Given the description of an element on the screen output the (x, y) to click on. 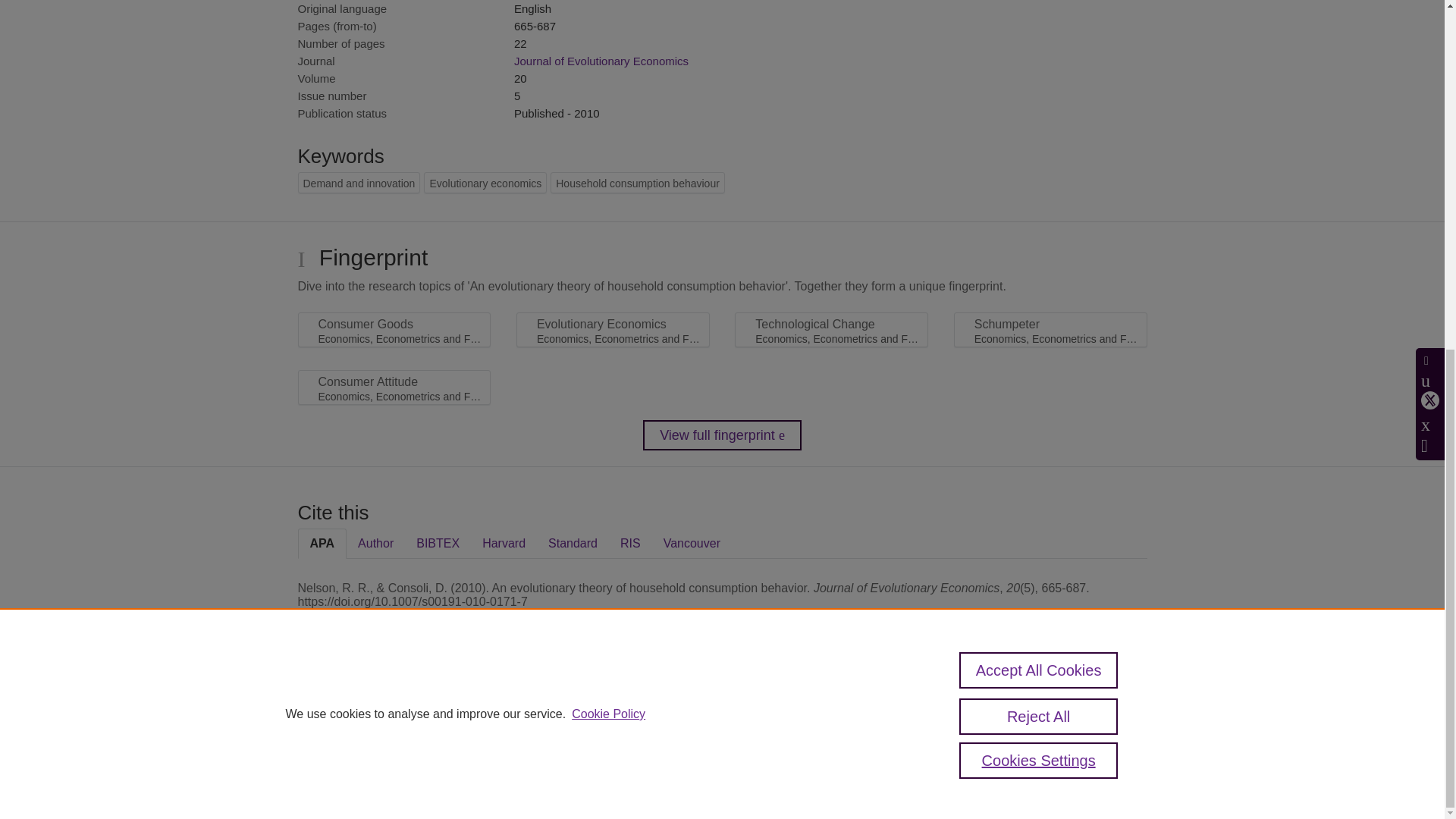
Journal of Evolutionary Economics (600, 60)
use of cookies (796, 759)
View full fingerprint (722, 435)
Pure (362, 707)
Elsevier B.V. (506, 727)
Scopus (394, 707)
